Given the description of an element on the screen output the (x, y) to click on. 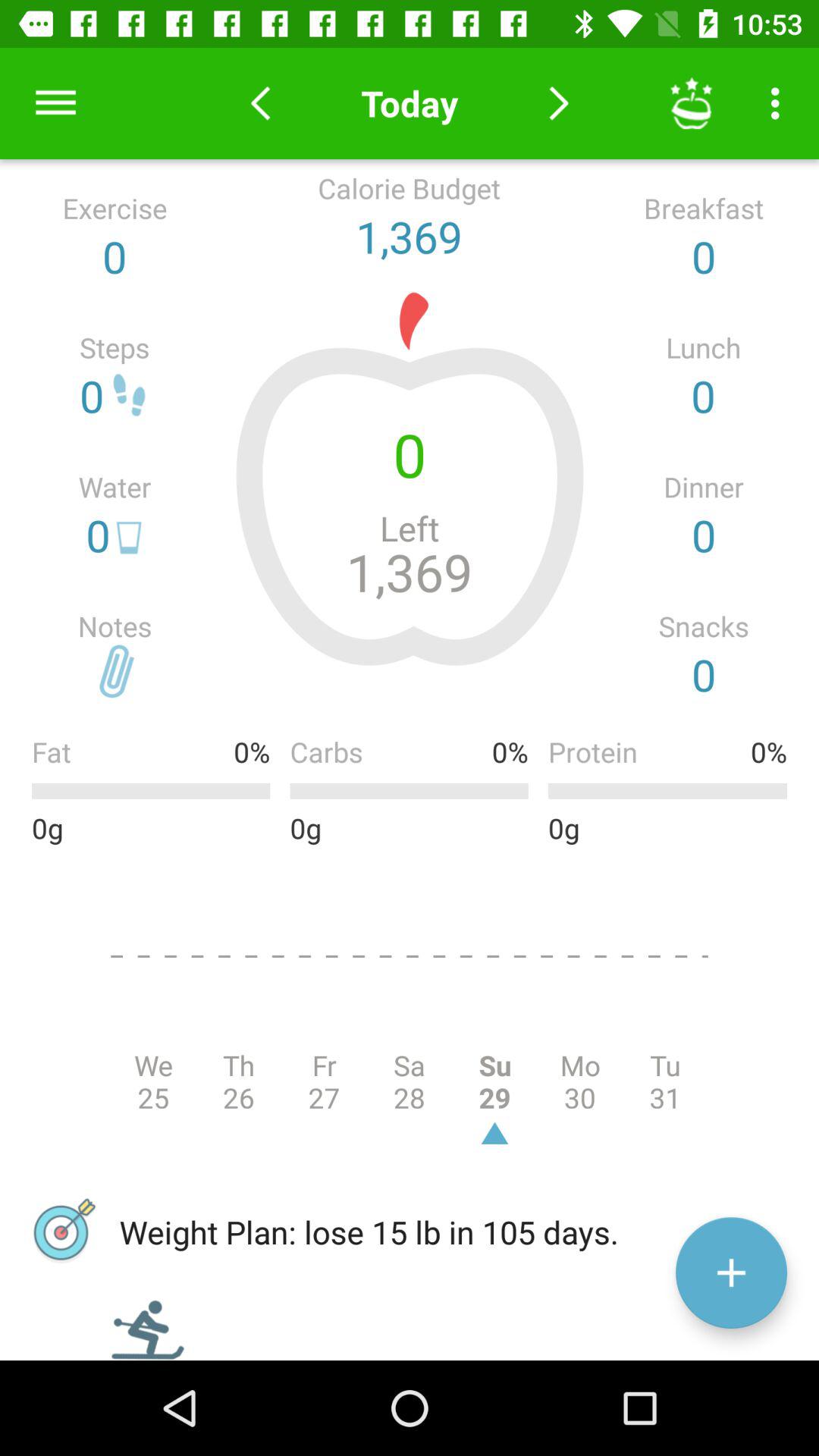
previous pattern (260, 103)
